Given the description of an element on the screen output the (x, y) to click on. 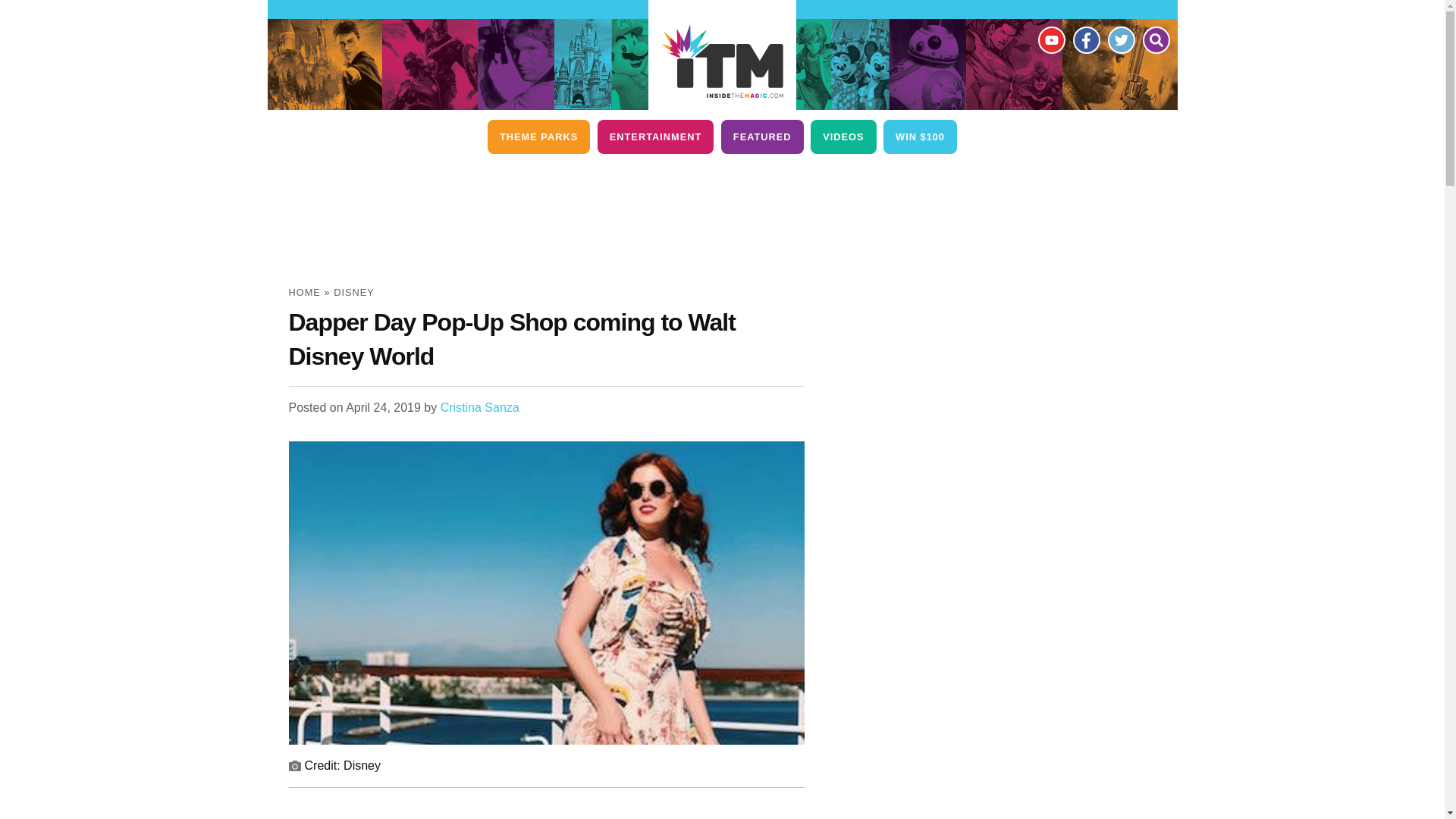
Facebook (1085, 40)
Search (1155, 40)
ENTERTAINMENT (655, 136)
THEME PARKS (538, 136)
Twitter (1120, 40)
YouTube (1050, 40)
FEATURED (761, 136)
